Given the description of an element on the screen output the (x, y) to click on. 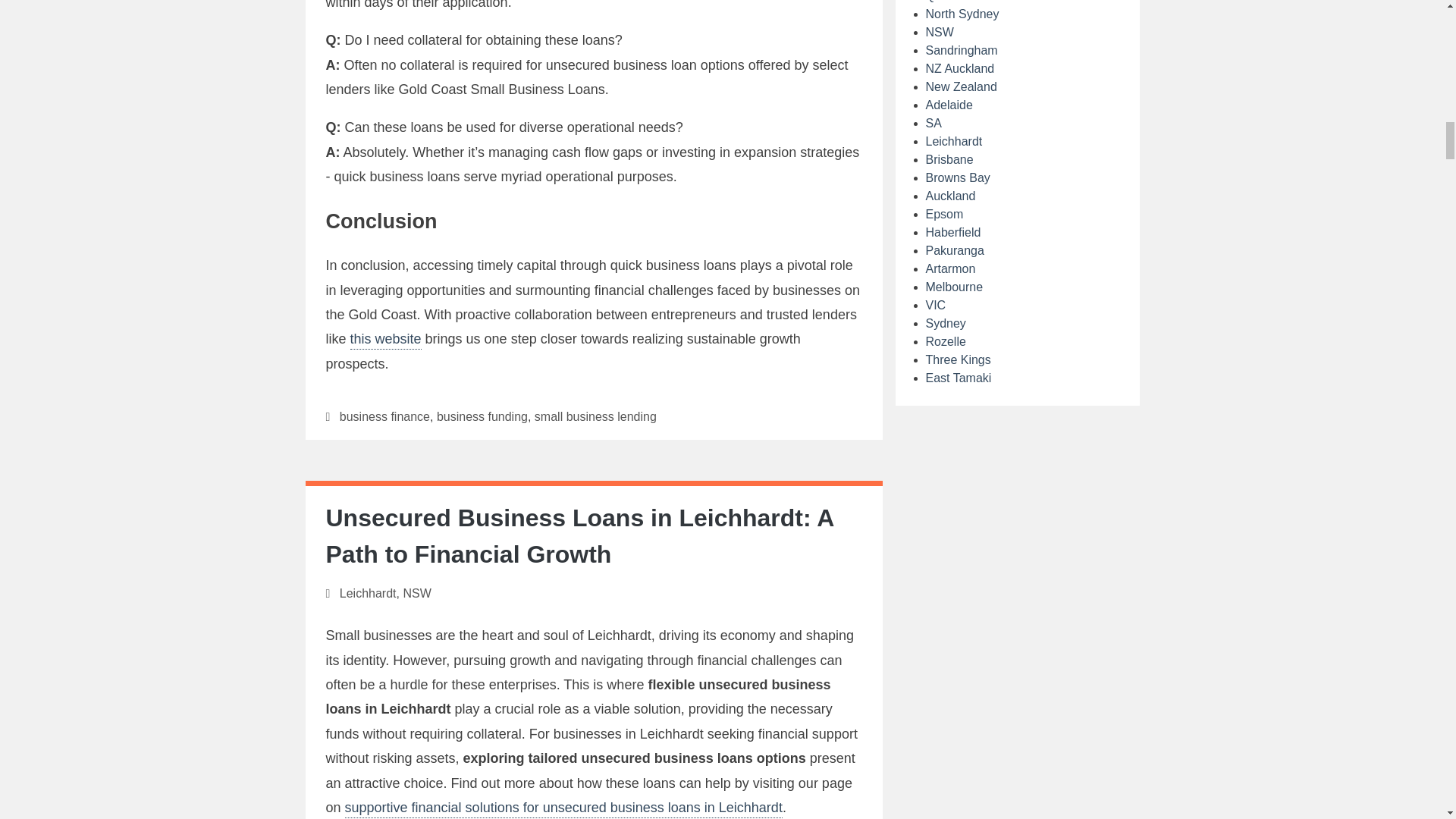
business funding (481, 416)
Leichhardt (367, 593)
this website (386, 340)
small business lending (595, 416)
business finance (384, 416)
NSW (416, 593)
